Given the description of an element on the screen output the (x, y) to click on. 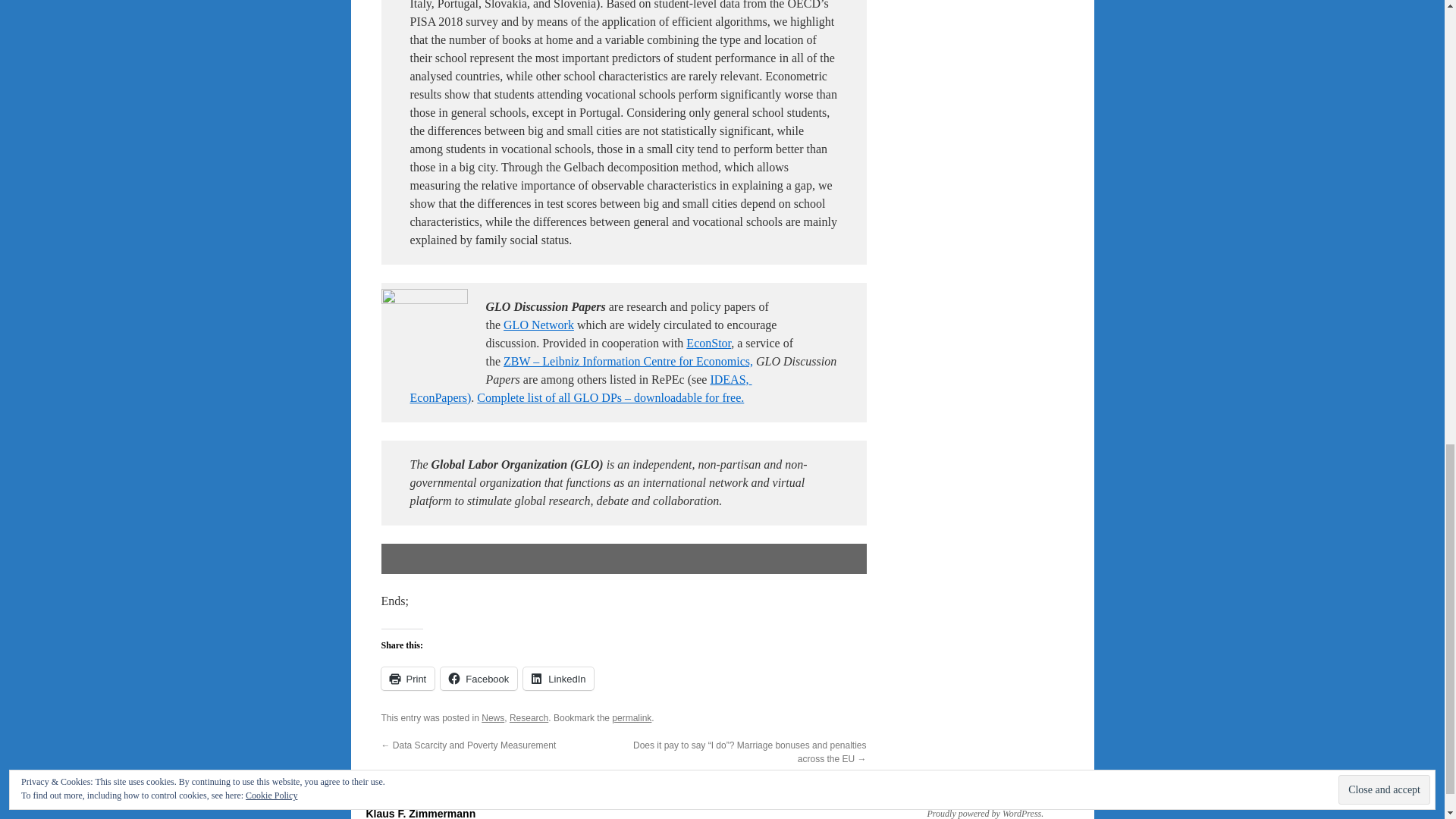
Click to share on Facebook (478, 678)
IDEAS, (729, 379)
Research (528, 717)
GLO Network (538, 324)
Click to print (406, 678)
EconStor (707, 342)
Print (406, 678)
Facebook (478, 678)
News (492, 717)
LinkedIn (558, 678)
Click to share on LinkedIn (558, 678)
